Given the description of an element on the screen output the (x, y) to click on. 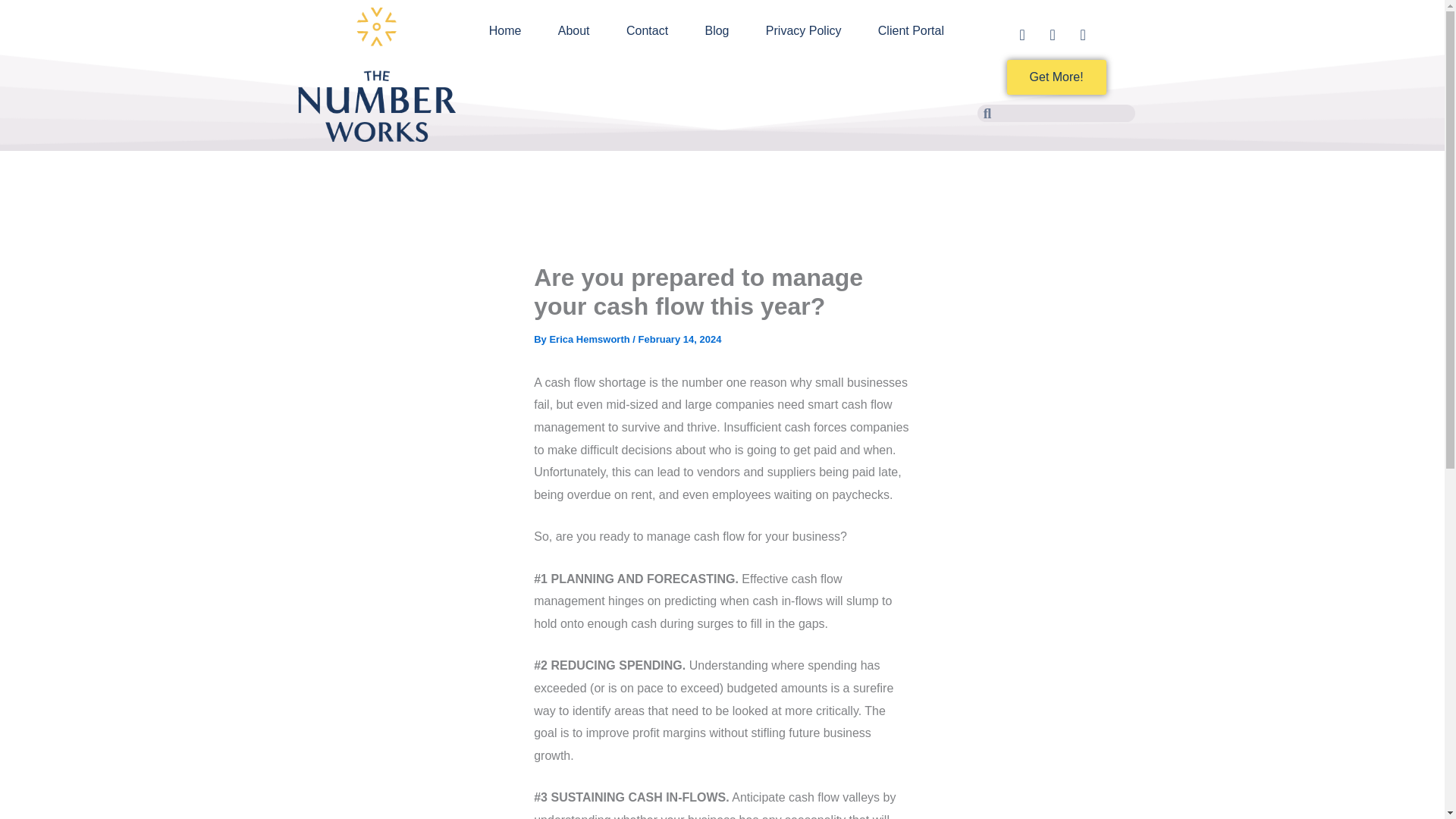
Newspaper (1025, 38)
Home (504, 30)
Contact (647, 30)
About (574, 30)
Client Portal (911, 30)
Erica Hemsworth (589, 338)
View all posts by Erica Hemsworth (589, 338)
Blog (715, 30)
Facebook (1056, 38)
Get More! (1056, 77)
